Given the description of an element on the screen output the (x, y) to click on. 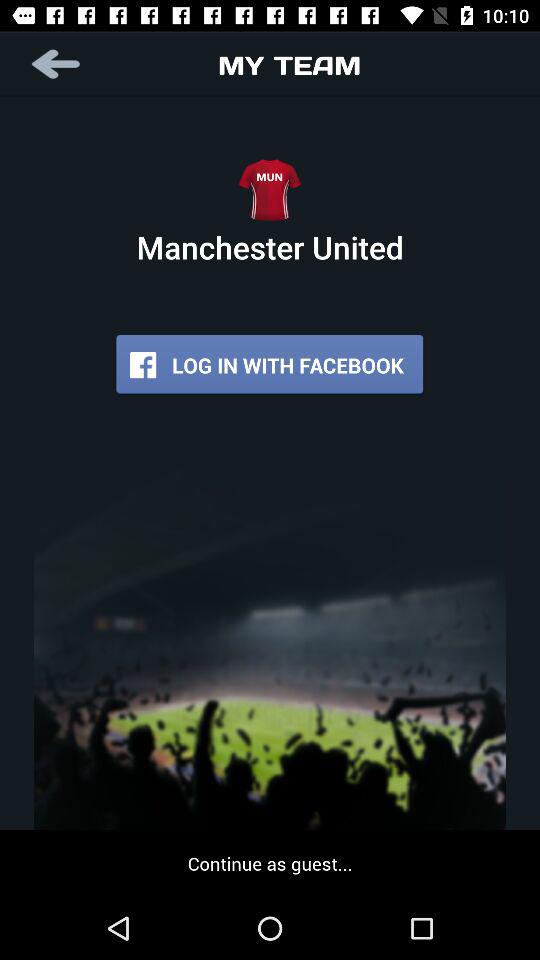
open log in with icon (269, 364)
